Given the description of an element on the screen output the (x, y) to click on. 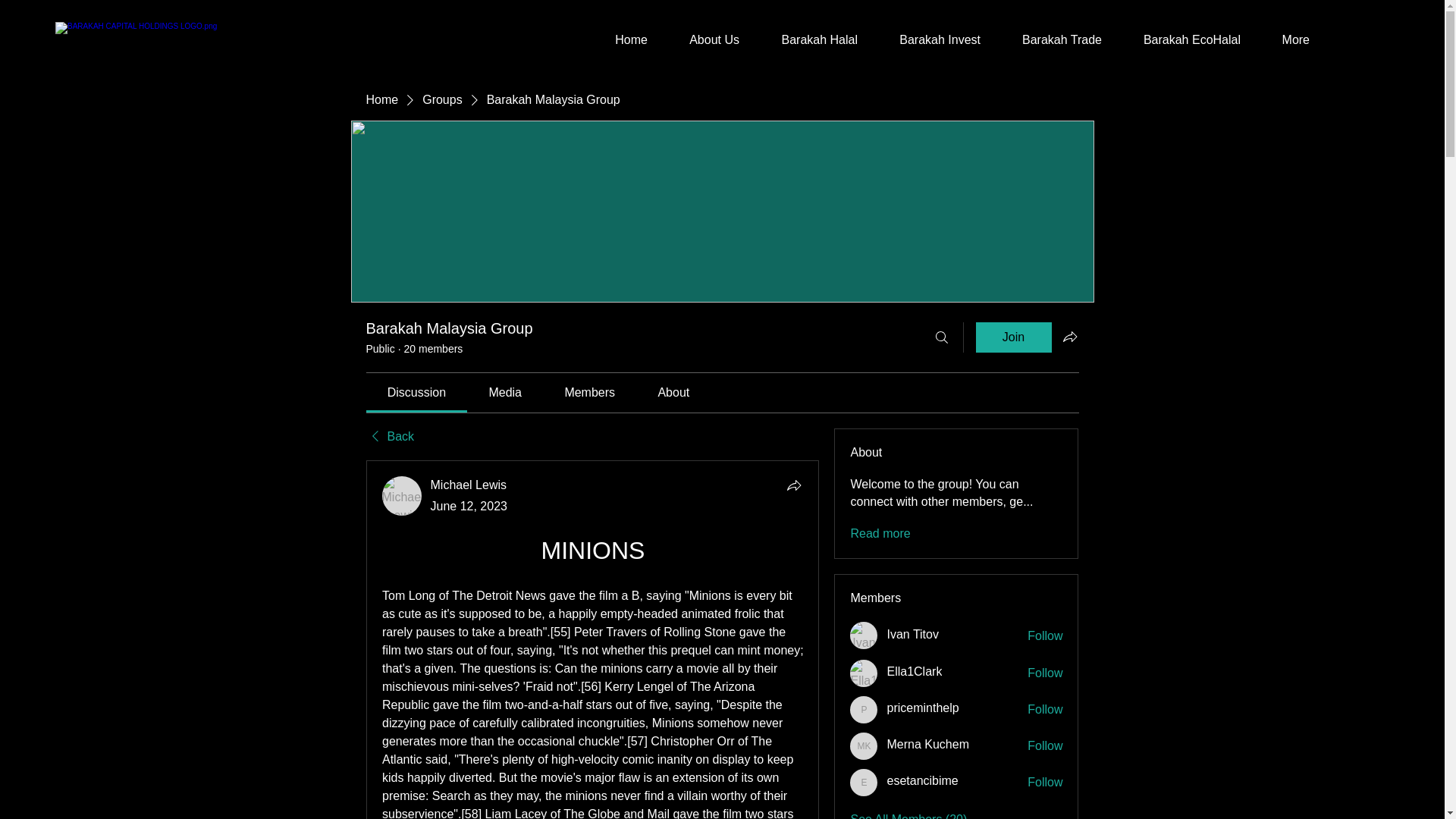
Follow (1044, 745)
Back (389, 436)
Ella1Clark (914, 671)
Ella1Clark (863, 673)
Ella1Clark (914, 671)
Ivan Titov (911, 634)
June 12, 2023 (468, 505)
About Us (705, 39)
Home (622, 39)
esetancibime (922, 781)
